Given the description of an element on the screen output the (x, y) to click on. 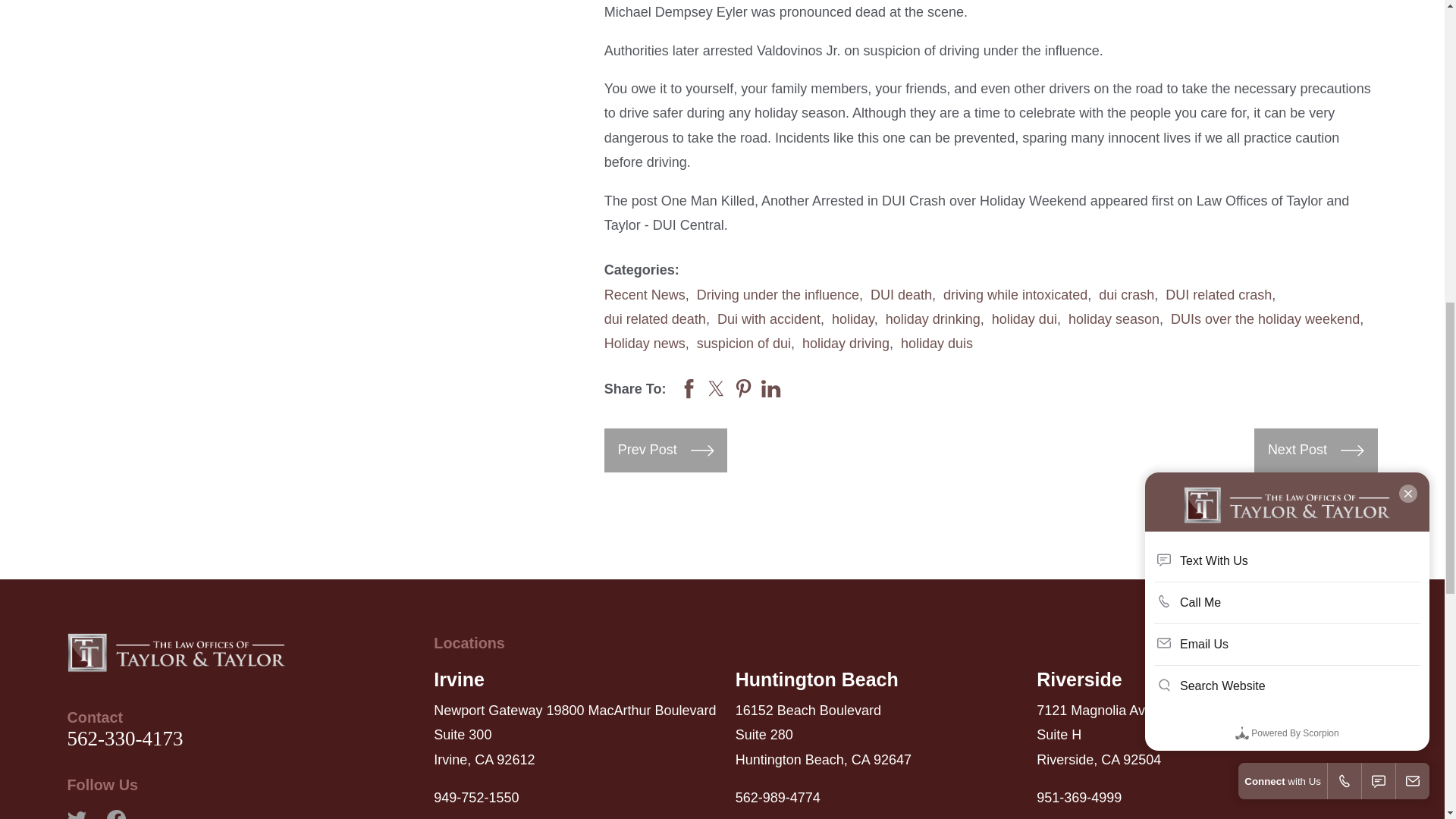
Home (175, 651)
Twitter (75, 814)
Facebook (115, 814)
